Given the description of an element on the screen output the (x, y) to click on. 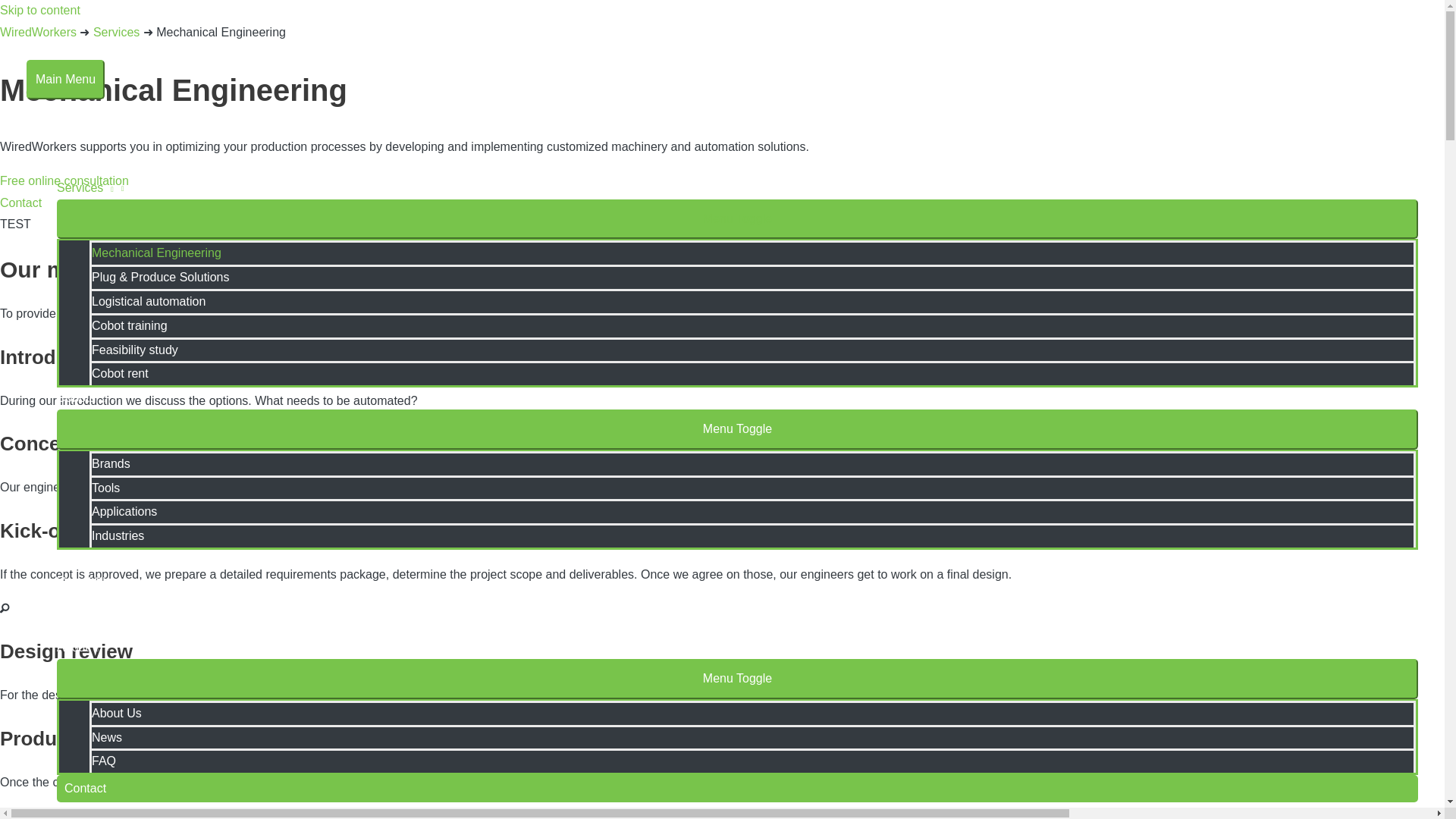
Contact (21, 202)
Logistical automation (751, 300)
Tools (751, 487)
Mechanical Engineering (751, 252)
Business cases (737, 604)
Feasibility study (751, 349)
Shop (737, 560)
Contact (737, 788)
Menu Toggle (737, 219)
Services (737, 188)
Cobot rent (751, 372)
Cobots (737, 398)
About (737, 648)
Services (116, 31)
Brands (751, 463)
